Given the description of an element on the screen output the (x, y) to click on. 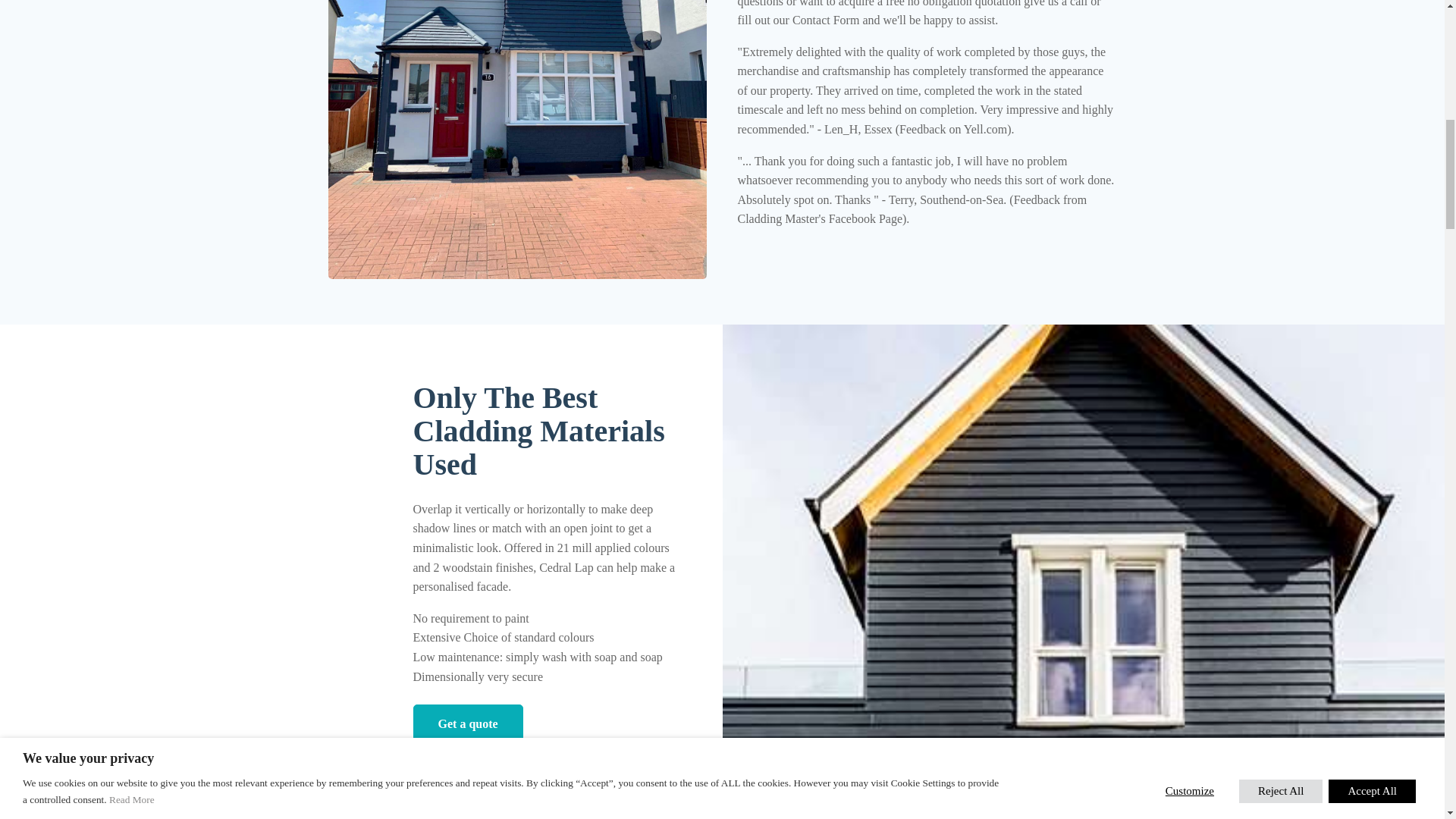
Get a quote (467, 723)
